Given the description of an element on the screen output the (x, y) to click on. 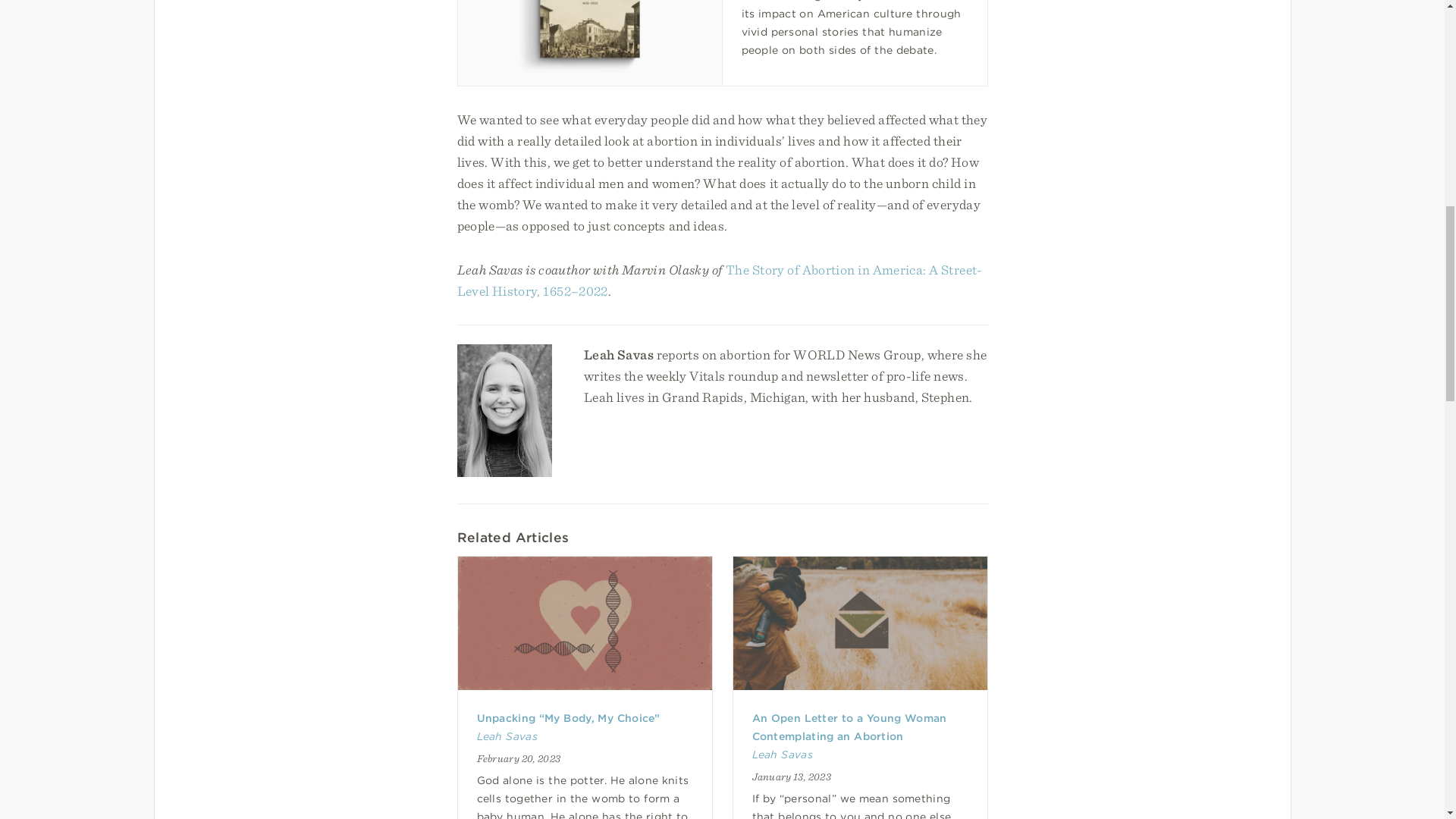
An Open Letter to a Young Woman Contemplating an Abortion (849, 726)
Leah Savas (506, 736)
Leah Savas (782, 754)
